Given the description of an element on the screen output the (x, y) to click on. 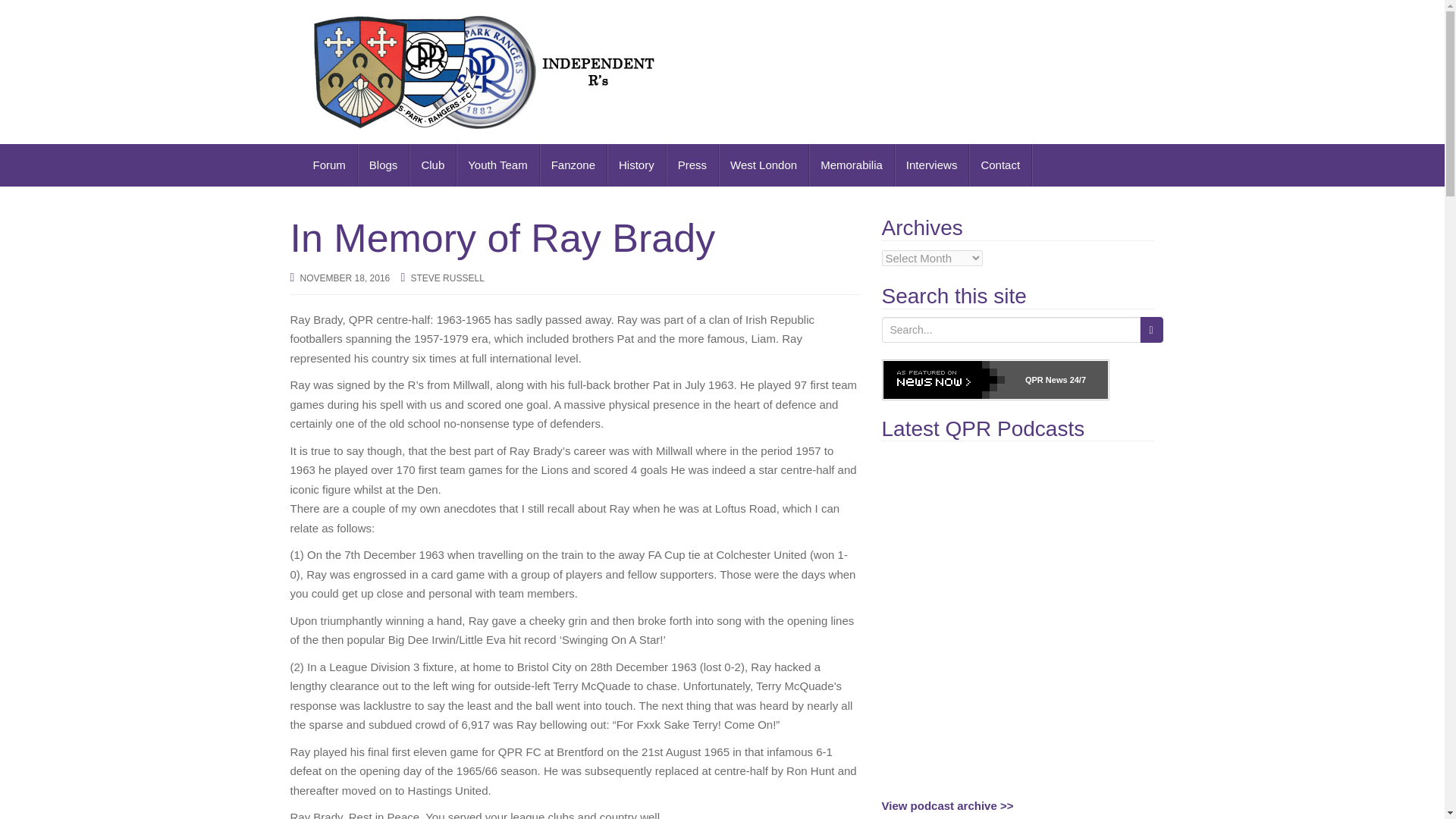
Click here for more QPR news from NewsNow (994, 379)
Blogs (384, 165)
Youth Team (497, 165)
Memorabilia (852, 165)
Contact (1000, 165)
Interviews (932, 165)
Fanzone (573, 165)
Fanzone (573, 165)
West London (764, 165)
Memorabilia (852, 165)
History (636, 165)
Press (692, 165)
STEVE RUSSELL (446, 277)
QPR News (1046, 379)
West London (764, 165)
